Given the description of an element on the screen output the (x, y) to click on. 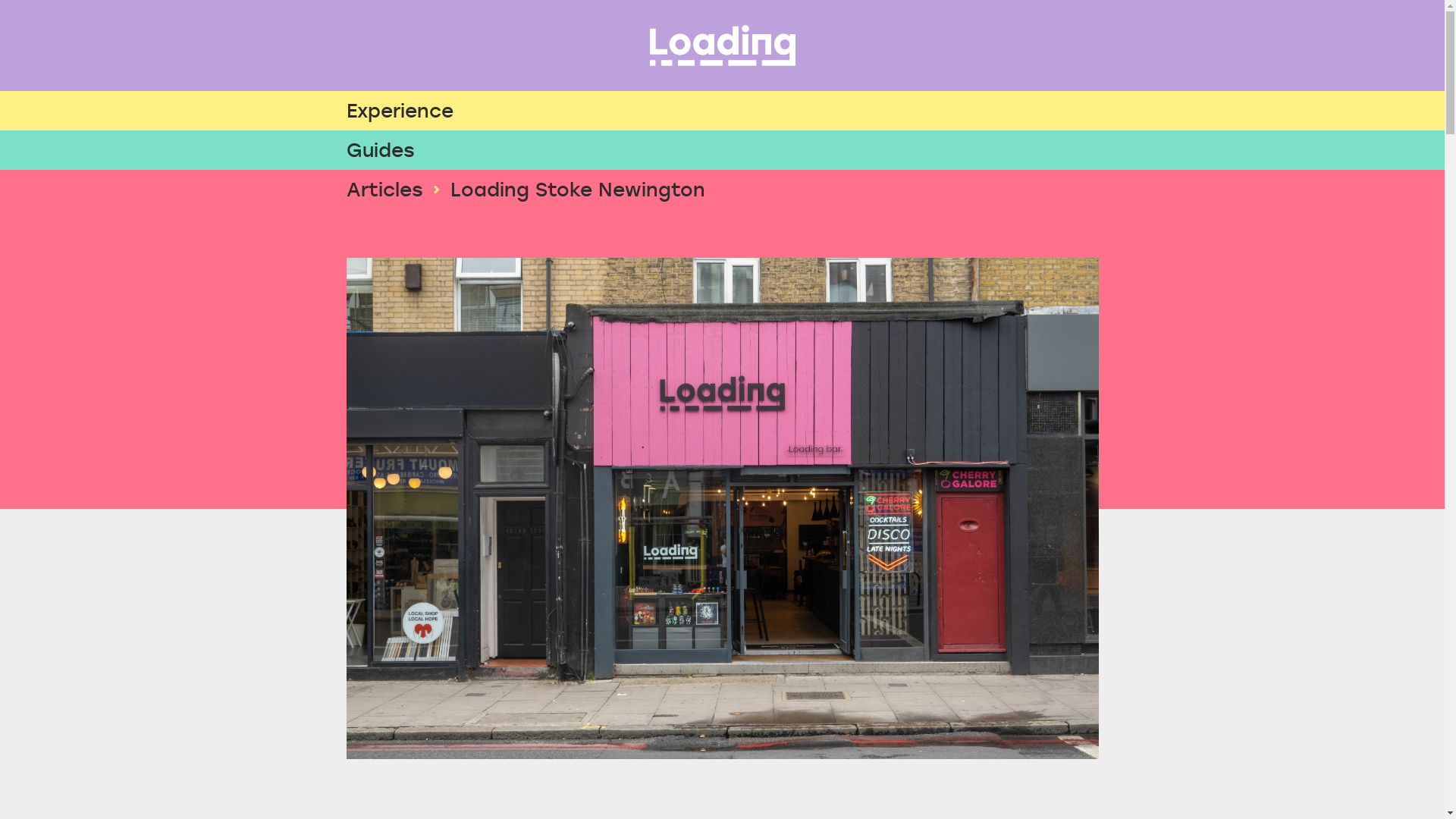
Articles Element type: text (383, 188)
Experience Element type: text (721, 110)
Guides Element type: text (721, 149)
Loading Stoke Newington Element type: text (577, 188)
